Given the description of an element on the screen output the (x, y) to click on. 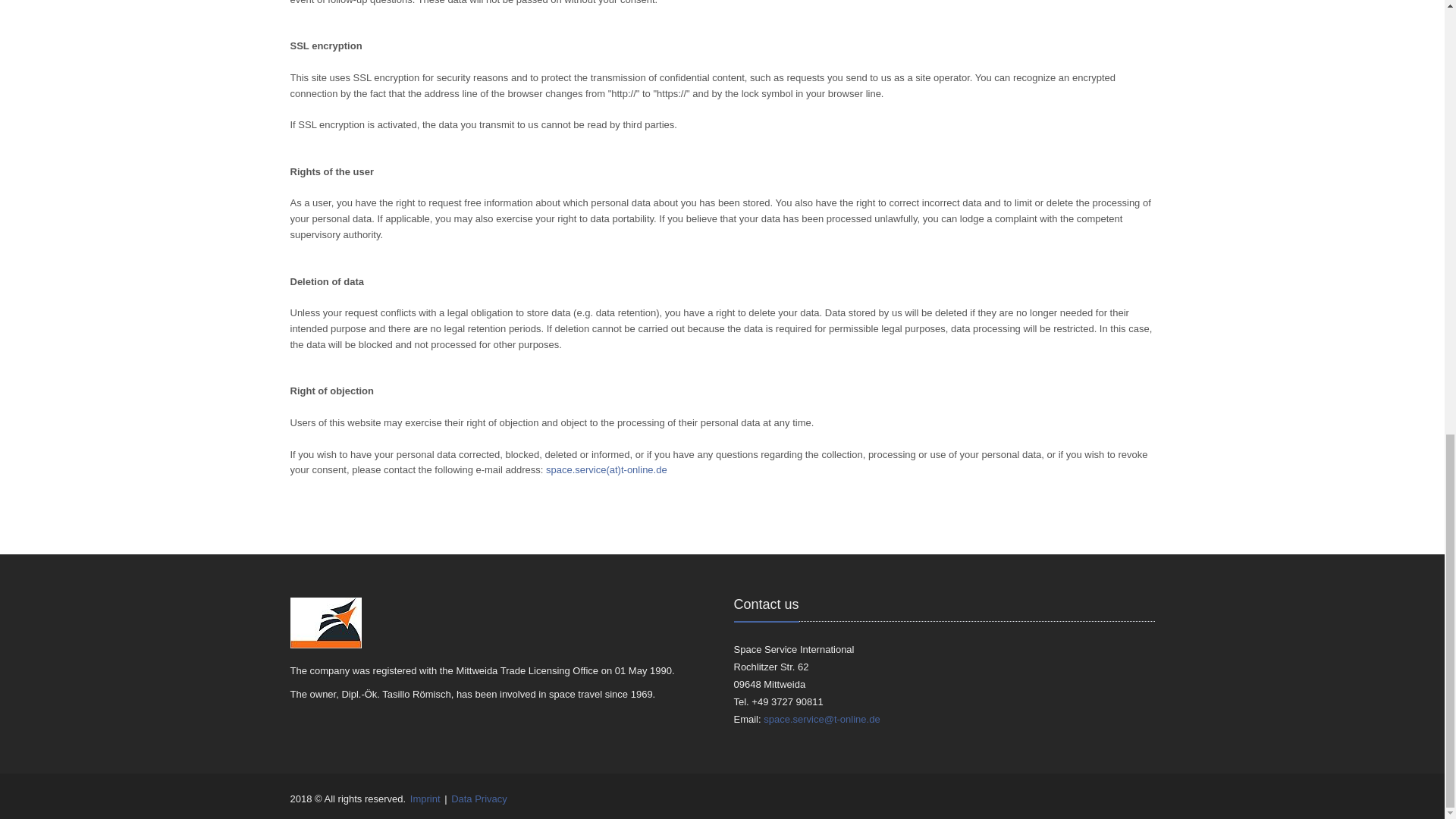
Imprint (425, 798)
Data Privacy (478, 798)
